Given the description of an element on the screen output the (x, y) to click on. 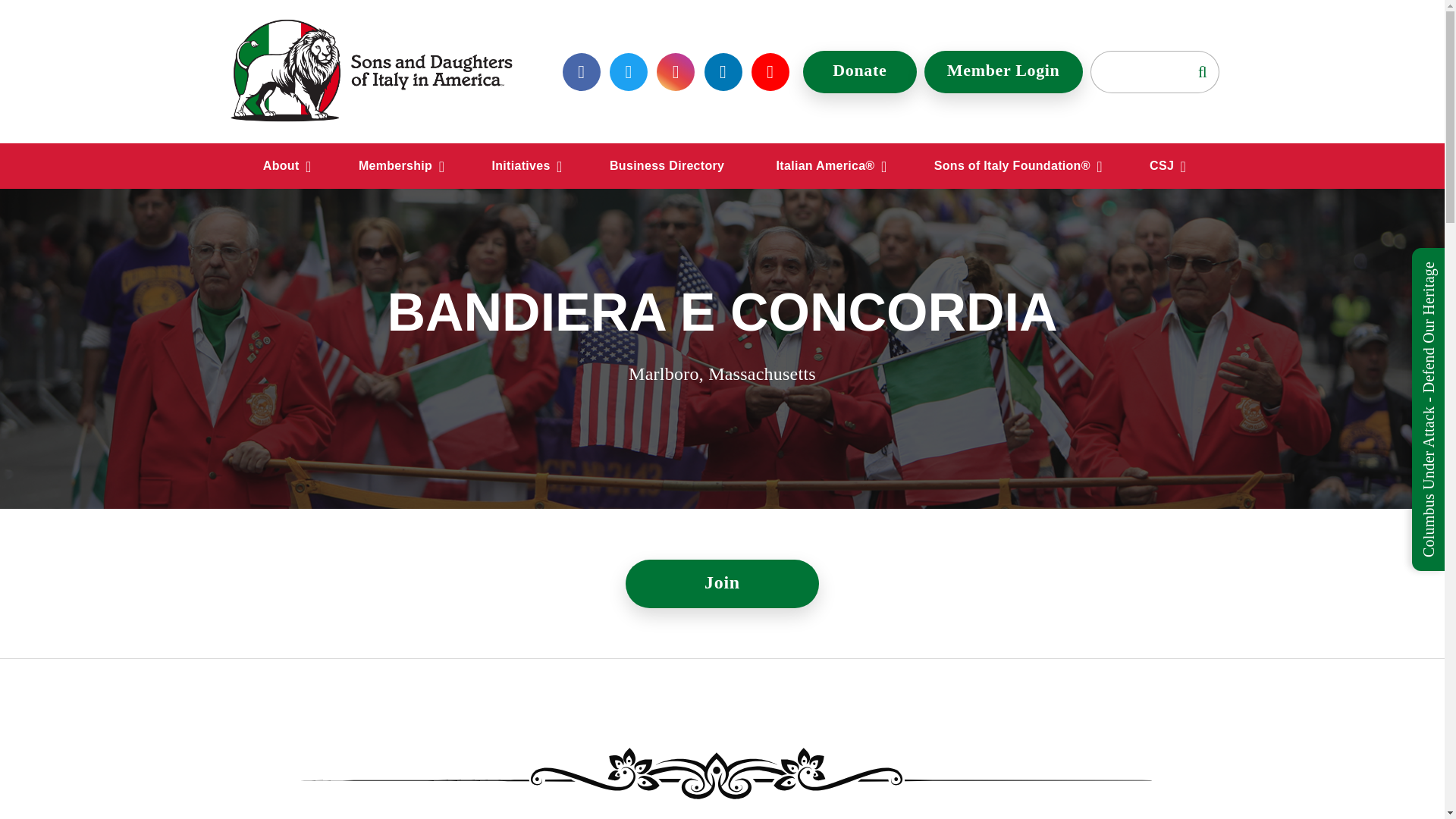
Membership (399, 166)
Initiatives (524, 166)
Member Login (1003, 71)
Donate (860, 71)
Business Directory (666, 166)
About (284, 166)
